Given the description of an element on the screen output the (x, y) to click on. 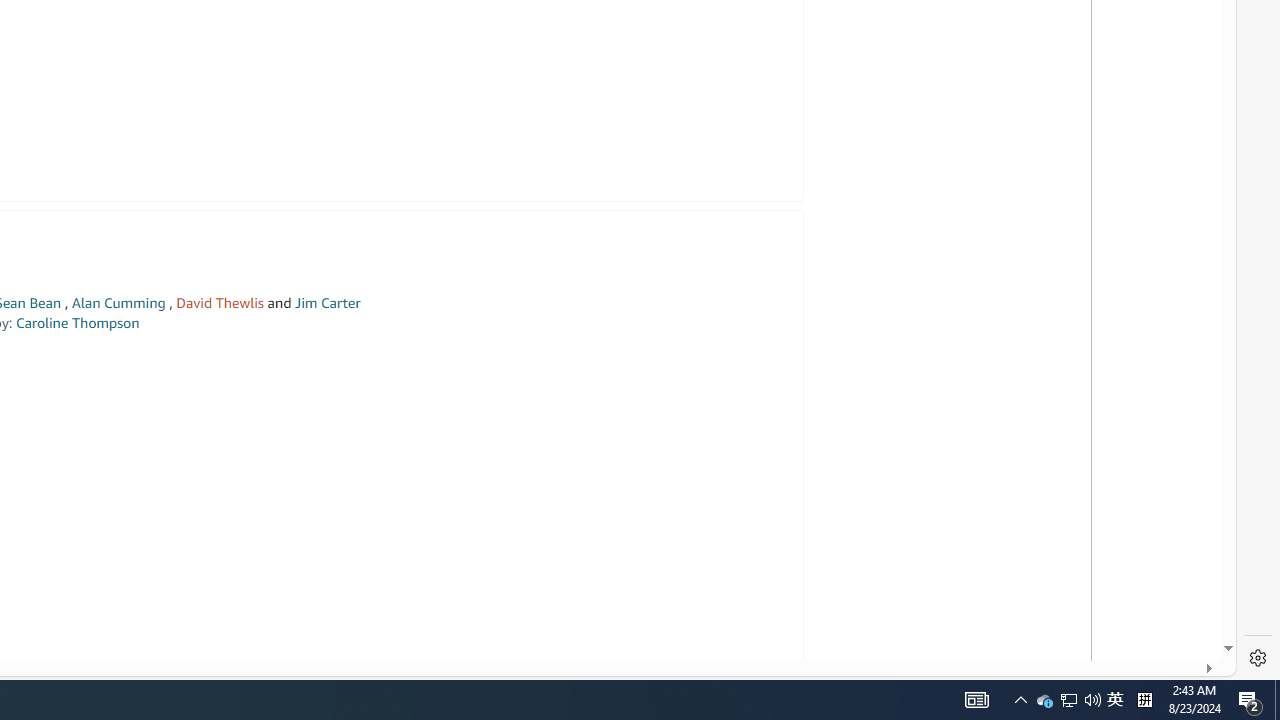
Caroline Thompson (77, 322)
Jim Carter (327, 303)
Alan Cumming (118, 303)
David Thewlis (219, 303)
